Given the description of an element on the screen output the (x, y) to click on. 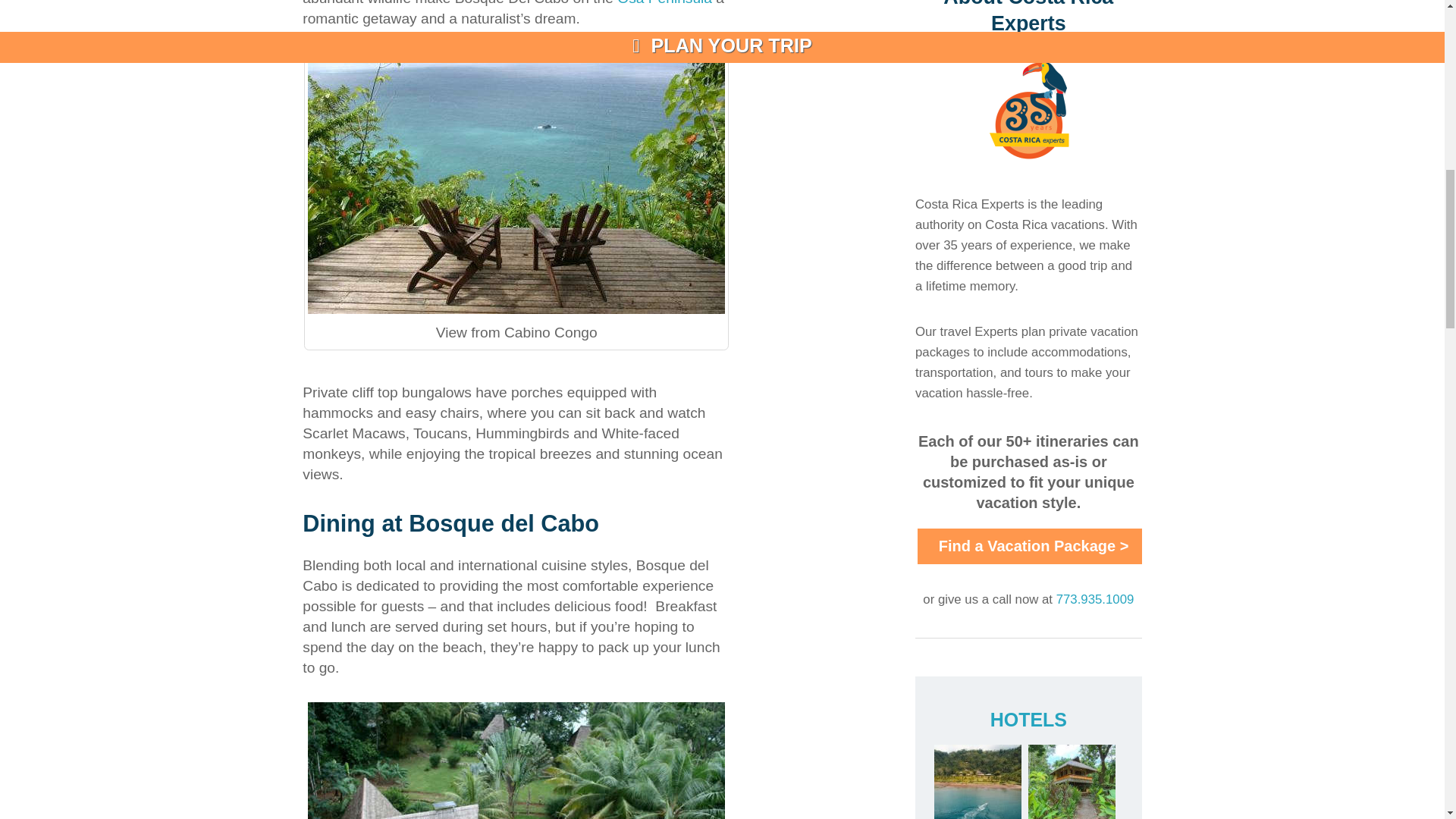
Osa Peninsula (664, 2)
